Given the description of an element on the screen output the (x, y) to click on. 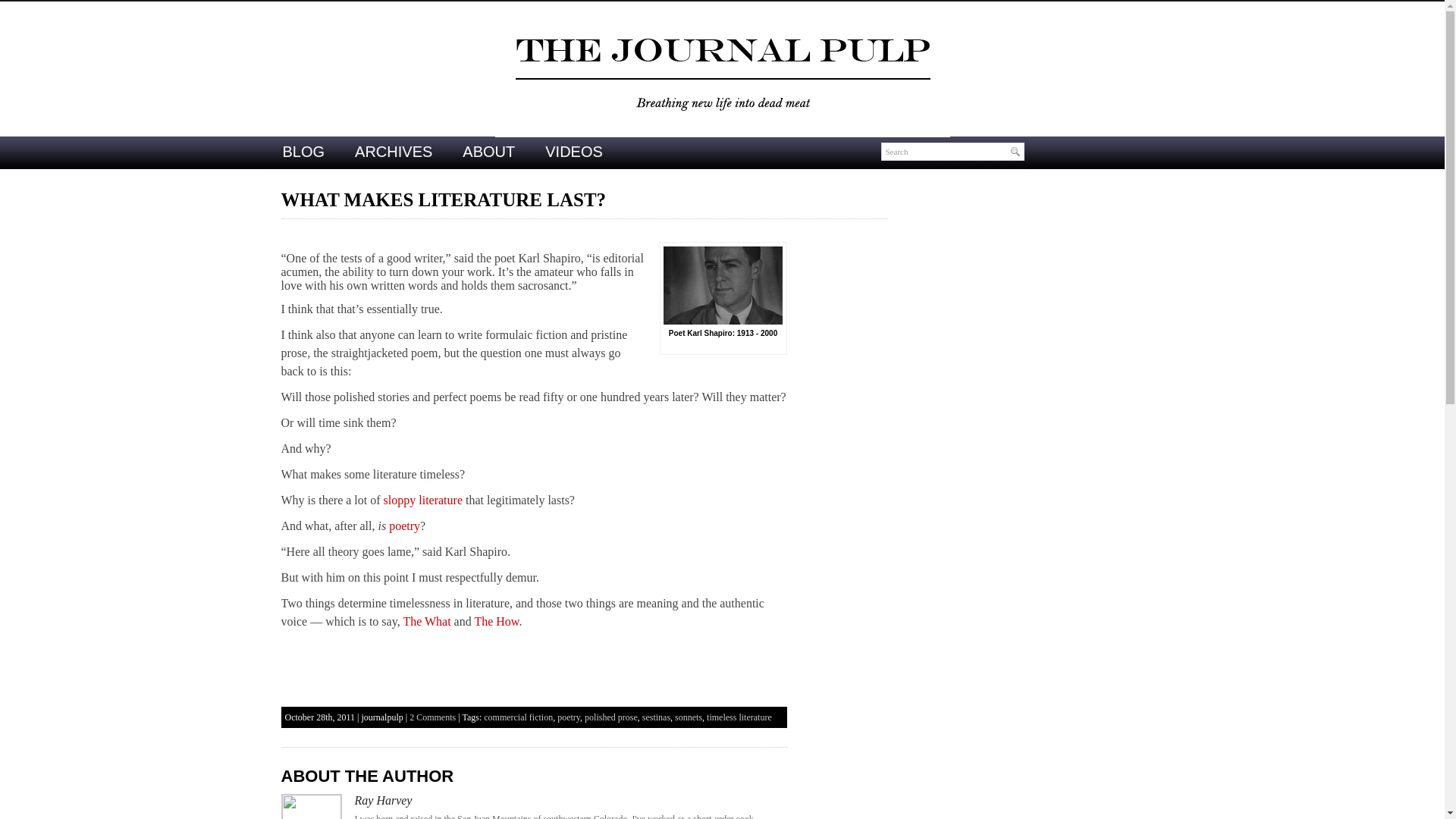
ABOUT (487, 151)
The What (426, 621)
BLOG (302, 151)
karl-shapiro (723, 285)
poetry (404, 525)
Search (952, 151)
sloppy literature (423, 499)
commercial fiction (518, 716)
ARCHIVES (392, 151)
VIDEOS (573, 151)
